Given the description of an element on the screen output the (x, y) to click on. 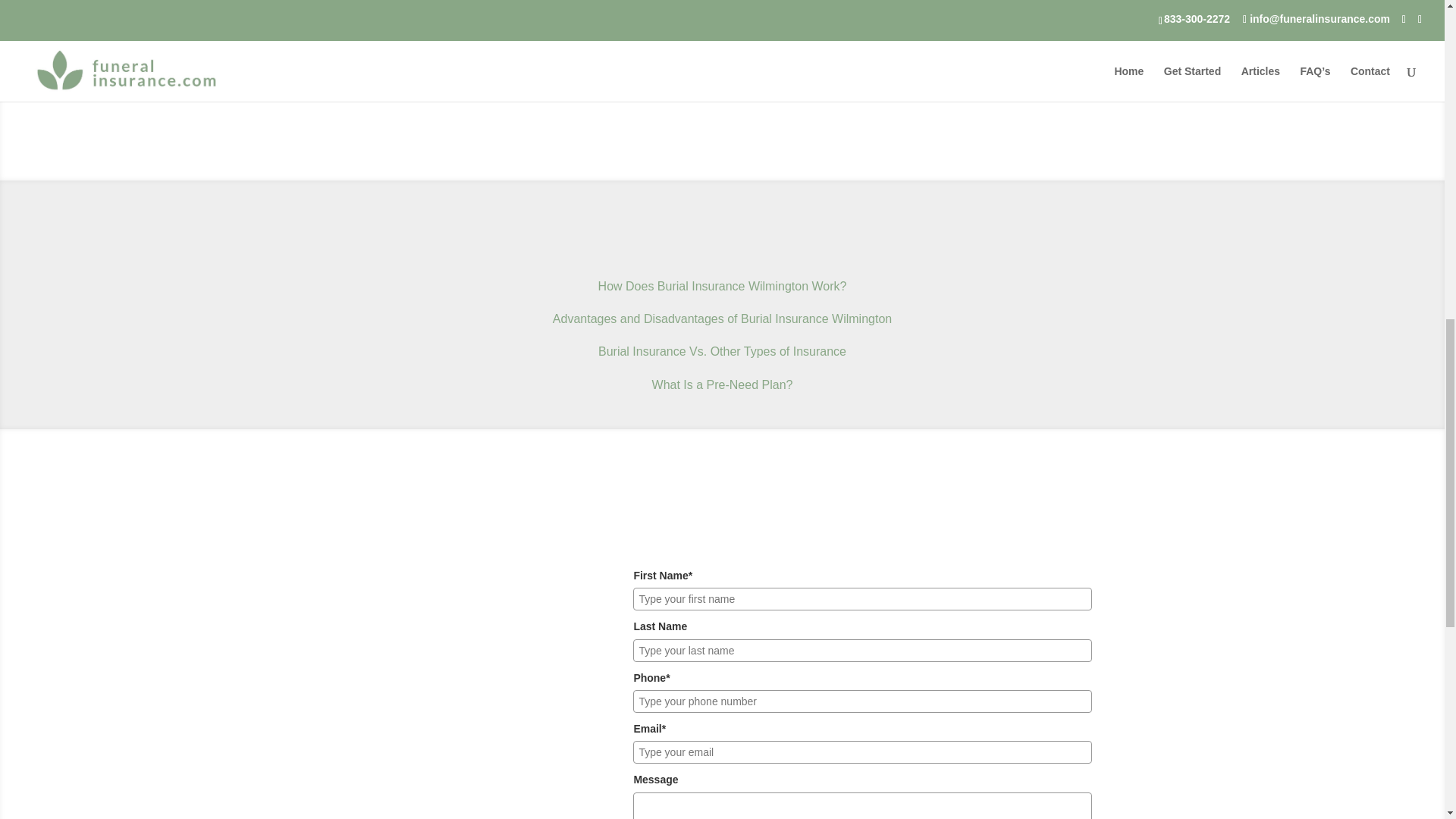
Advantages and Disadvantages of Burial Insurance Wilmington (722, 318)
How Does Burial Insurance Wilmington Work? (722, 286)
Burial Insurance Vs. Other Types of Insurance (721, 350)
What Is a Pre-Need Plan? (722, 384)
